Given the description of an element on the screen output the (x, y) to click on. 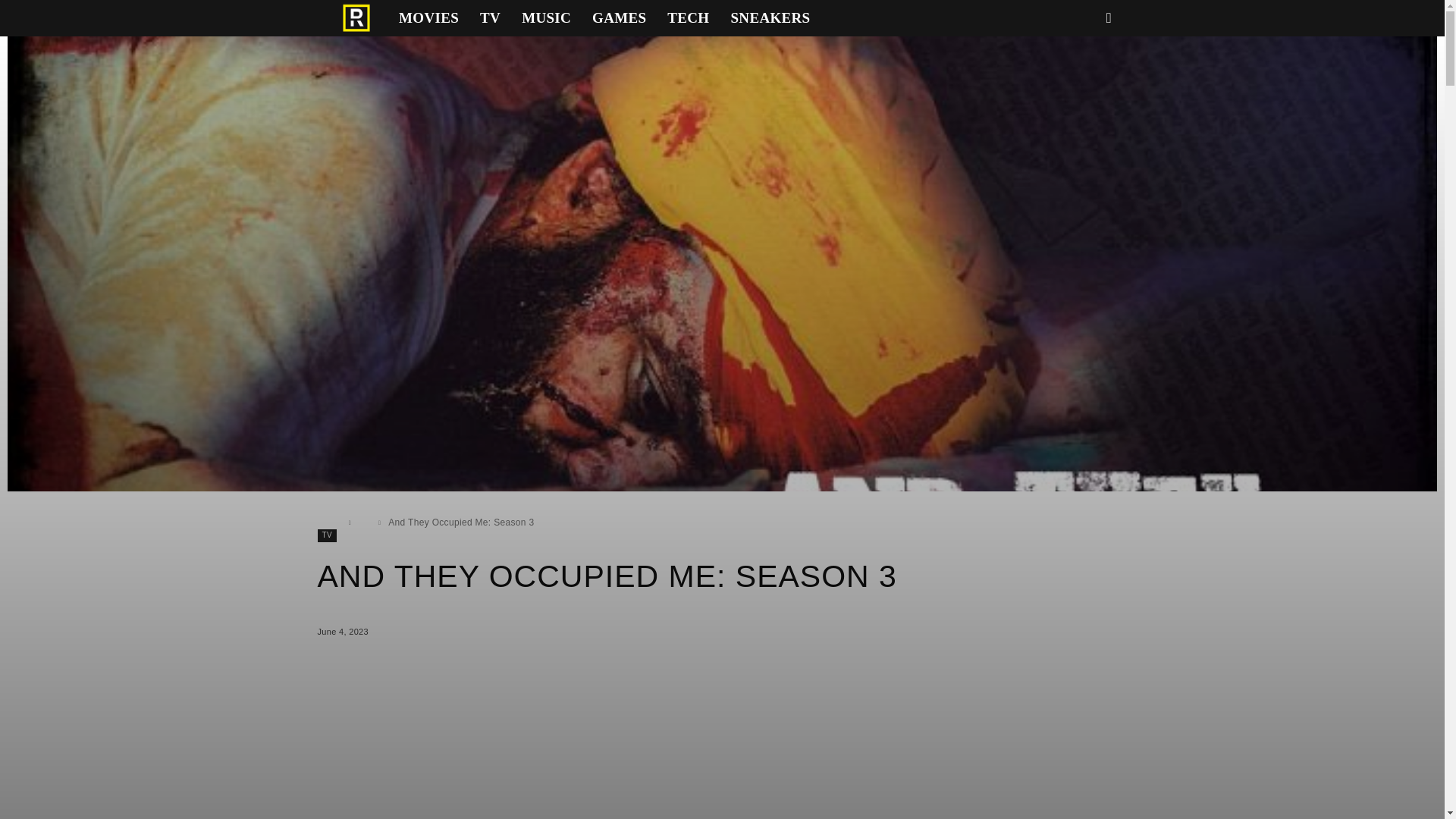
TECH (687, 18)
GAMES (618, 18)
MOVIES (428, 18)
New Movie Releases (428, 18)
MUSIC (545, 18)
TV (489, 18)
Release Details (356, 18)
